Given the description of an element on the screen output the (x, y) to click on. 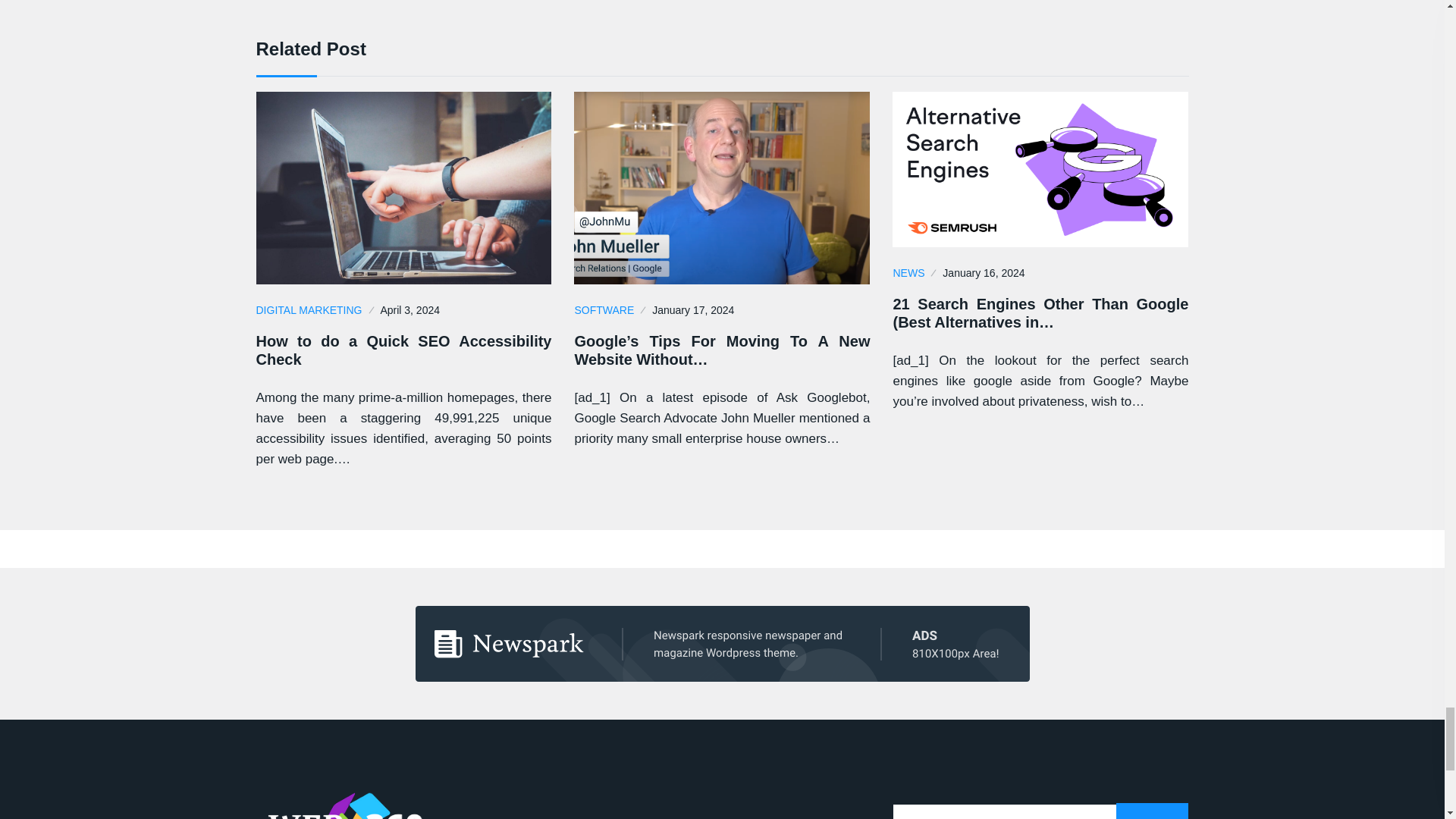
Sign up (1152, 811)
